Given the description of an element on the screen output the (x, y) to click on. 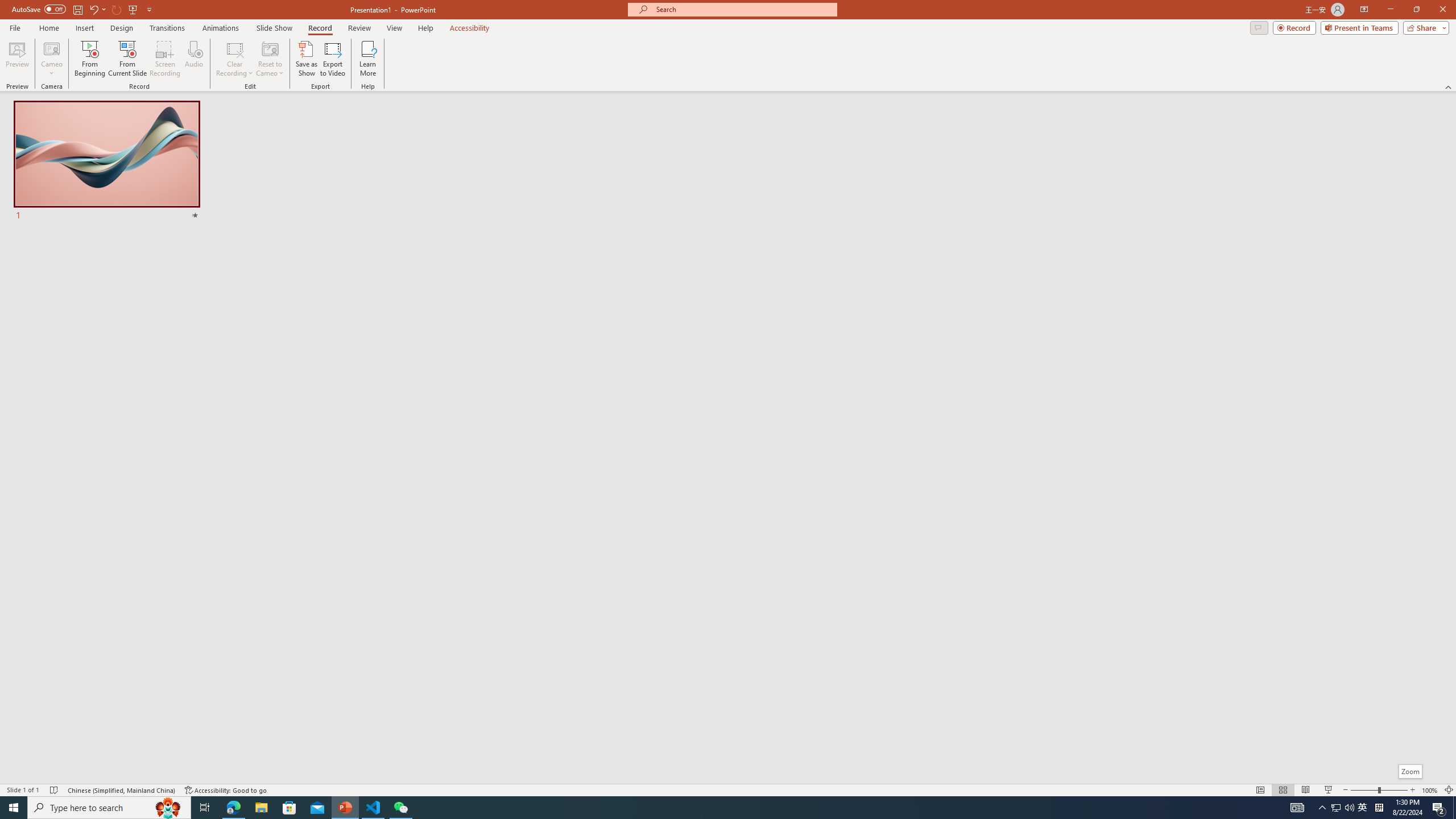
From Beginning... (89, 58)
Audio (193, 58)
Microsoft search (742, 9)
Preview (17, 58)
Zoom 100% (1430, 790)
